Given the description of an element on the screen output the (x, y) to click on. 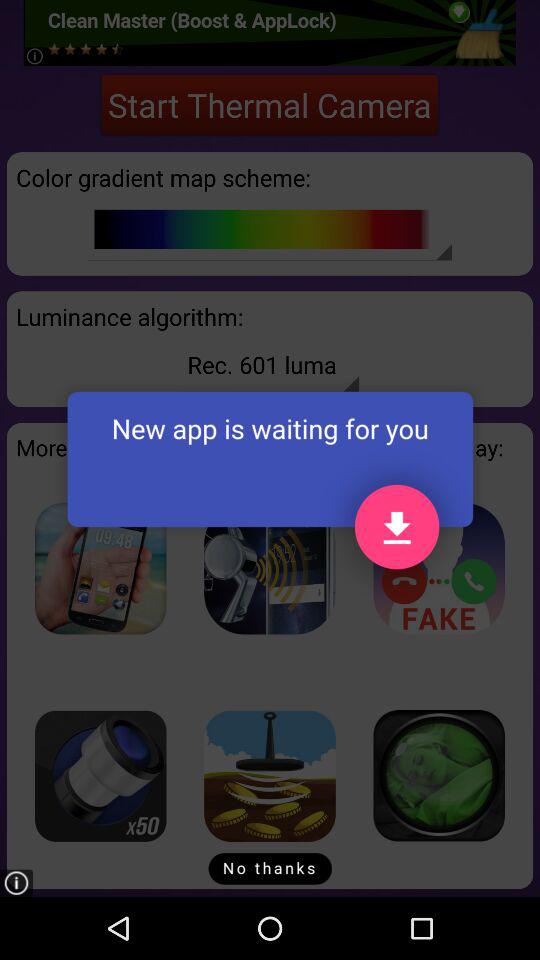
scroll to the start thermal camera button (269, 104)
